Given the description of an element on the screen output the (x, y) to click on. 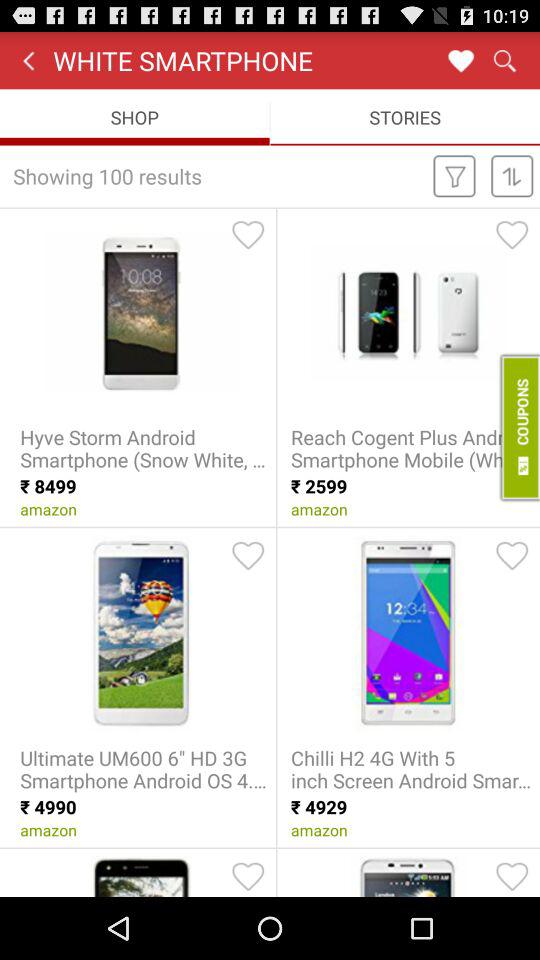
favorite the search term (460, 60)
